Given the description of an element on the screen output the (x, y) to click on. 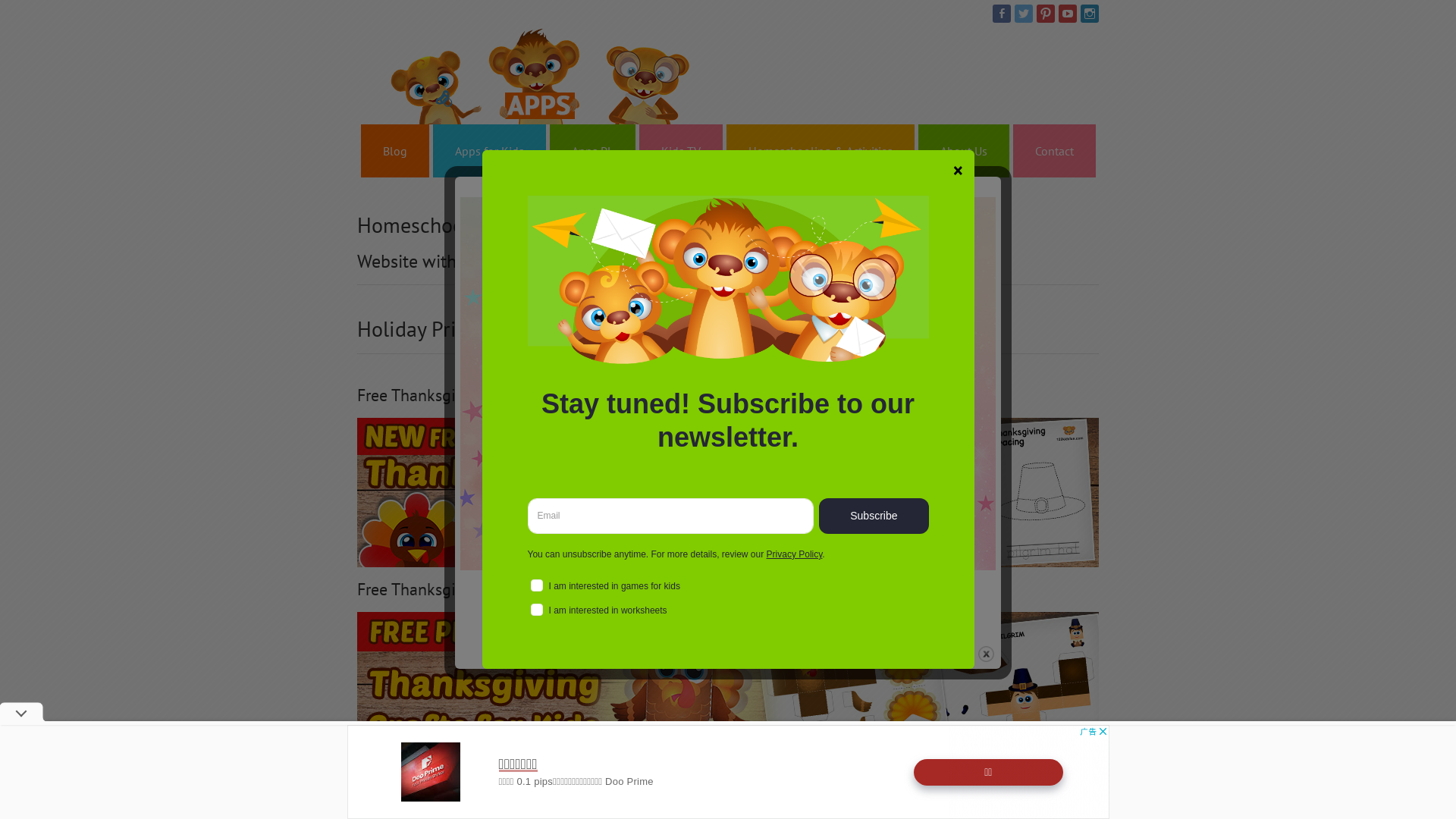
Apps for Kids Element type: text (489, 150)
123 Kids Fun Apps on LinkedIn Element type: hover (1089, 13)
Contact Element type: text (1054, 150)
123 Kids Fun Apps on Twitter Element type: hover (1023, 13)
123 Kids Fun Apps on Youtube Element type: hover (1067, 13)
123 Kids Fun Apps on Facebook Element type: hover (1001, 13)
About Us Element type: text (963, 150)
123 Kids Fun Apps on Pinterest Element type: hover (1045, 13)
Apps PL Element type: text (592, 150)
Blog Element type: text (394, 150)
Kids TV Element type: text (680, 150)
Homeschooling & Activities Element type: text (820, 150)
